Given the description of an element on the screen output the (x, y) to click on. 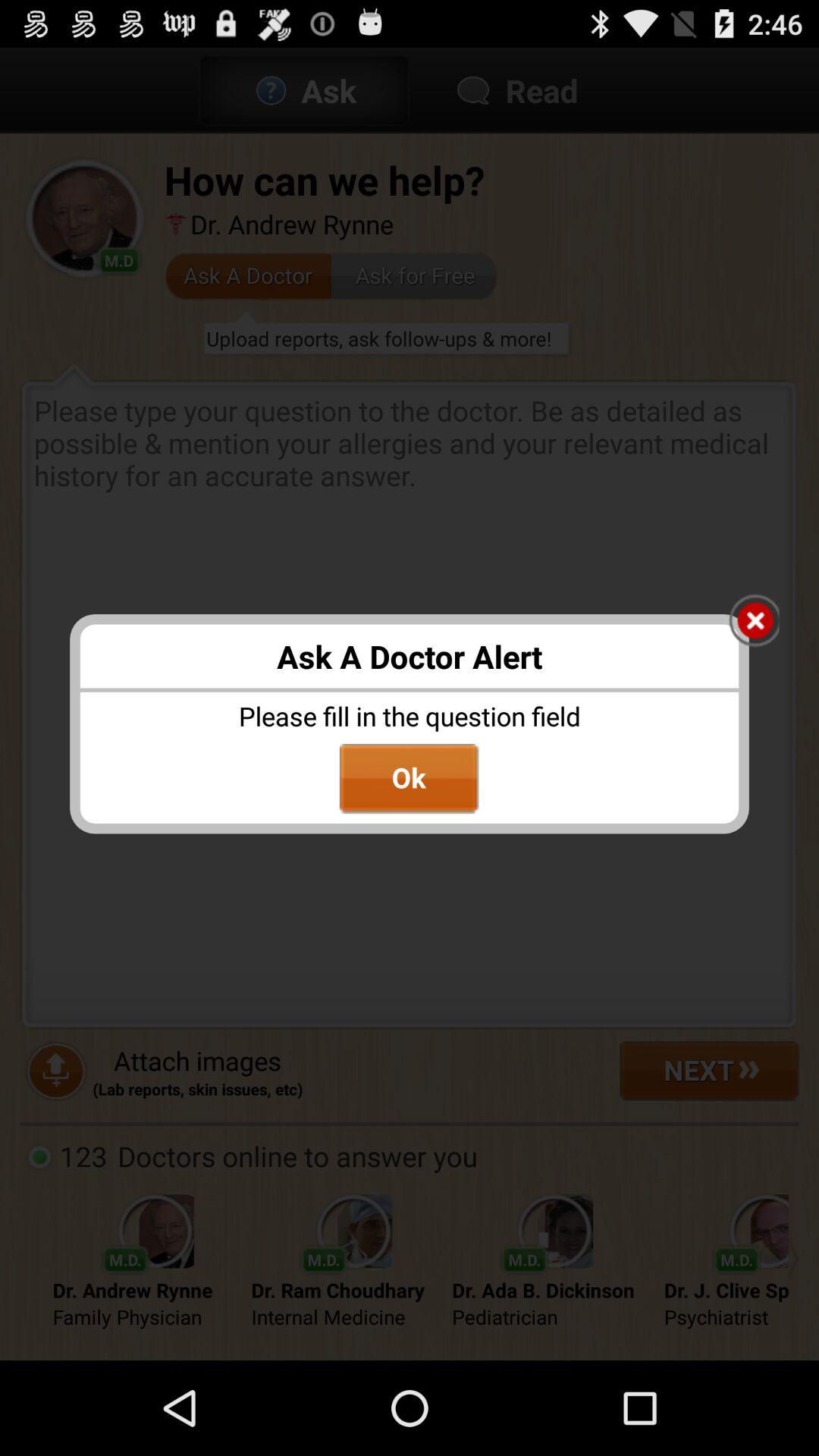
close the alert (753, 622)
